Given the description of an element on the screen output the (x, y) to click on. 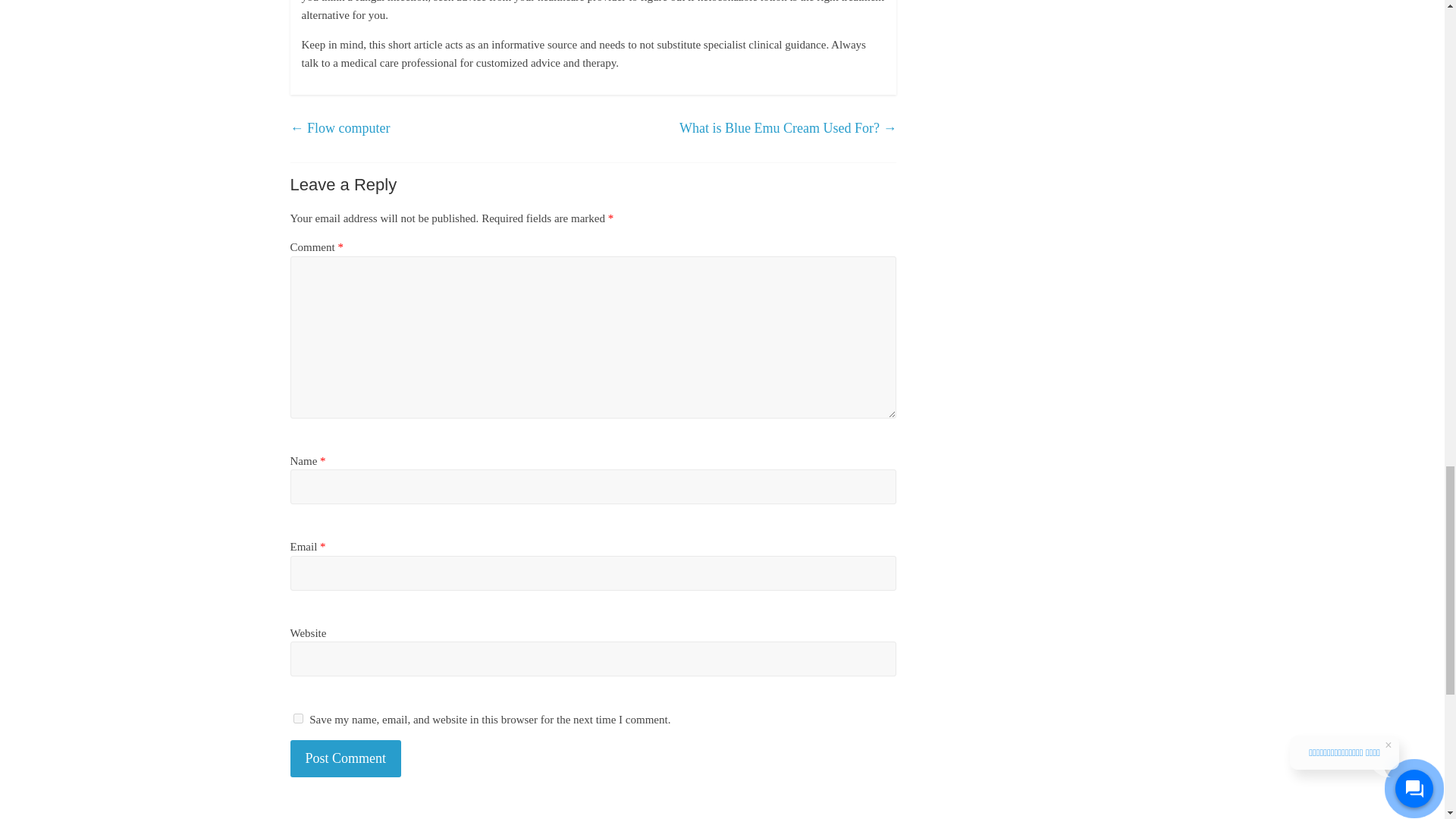
yes (297, 718)
Post Comment (345, 758)
